Given the description of an element on the screen output the (x, y) to click on. 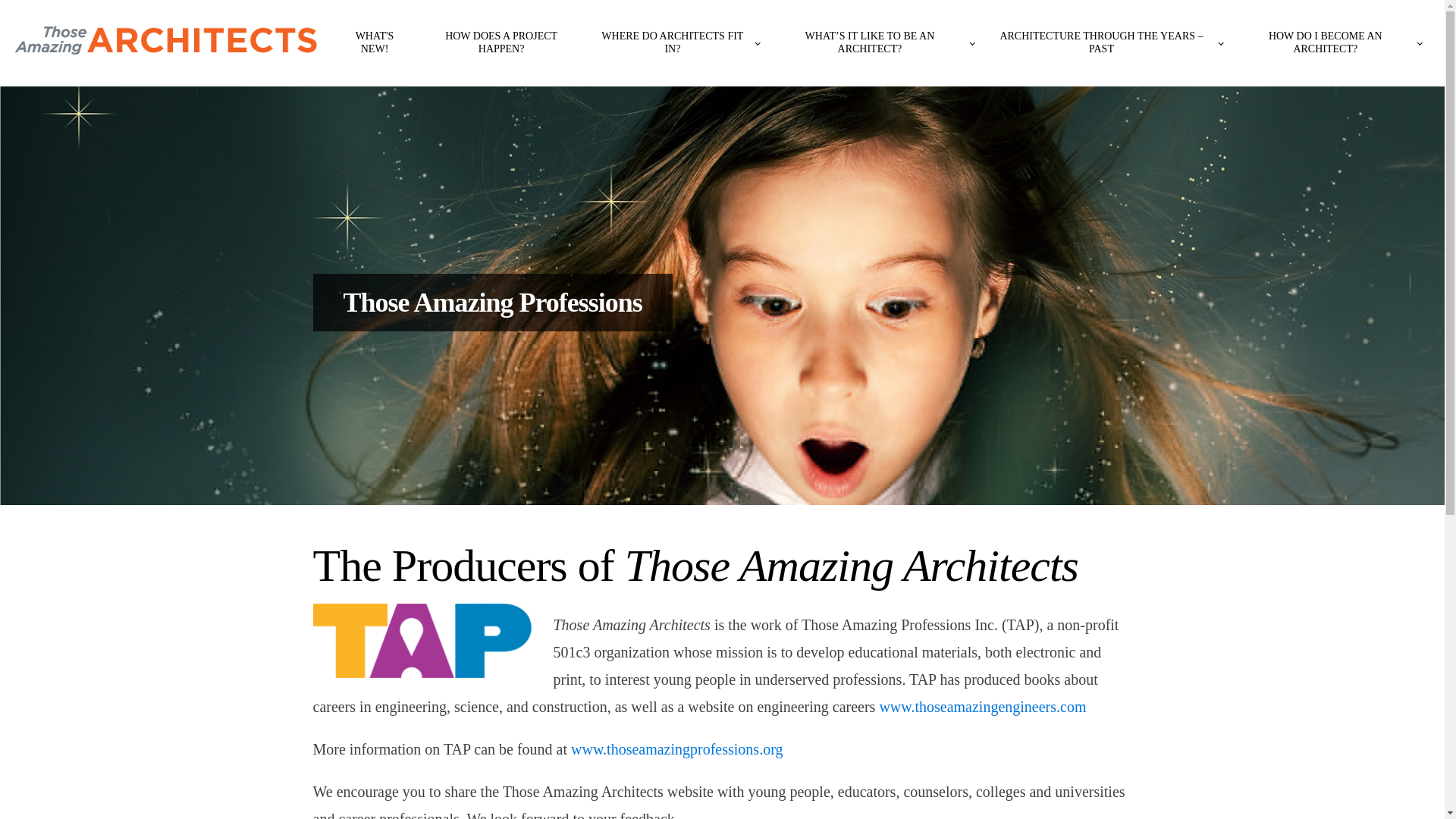
www.thoseamazingprofessions.org (676, 749)
WHAT'S NEW! (373, 43)
WHERE DO ARCHITECTS FIT IN? (676, 43)
HOW DO I BECOME AN ARCHITECT? (1329, 43)
HOW DOES A PROJECT HAPPEN? (500, 43)
www.thoseamazingengineers.com (982, 706)
